Given the description of an element on the screen output the (x, y) to click on. 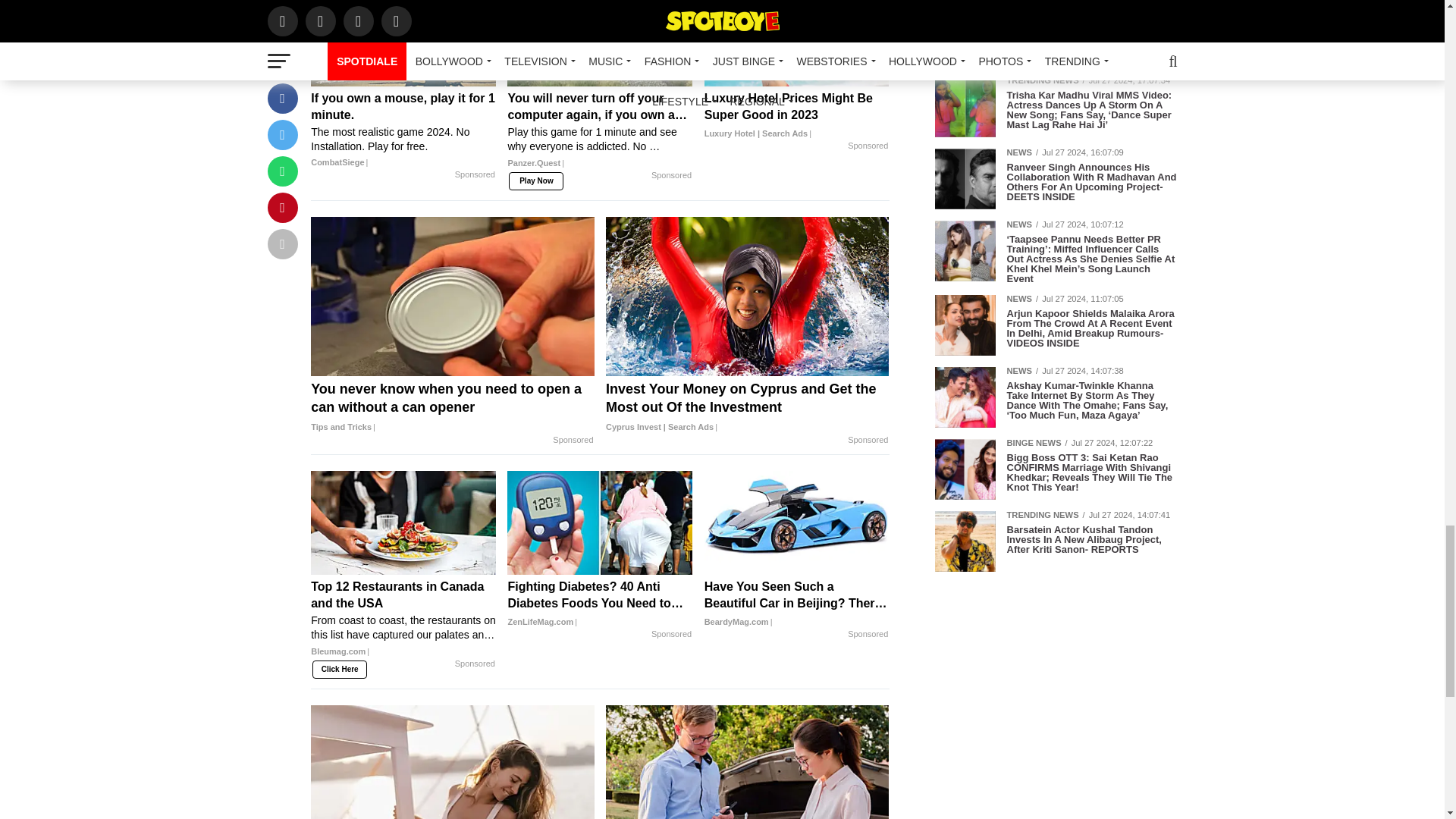
Luxury Hotel Prices Might Be Super Good in 2023 (796, 115)
Top 12 Restaurants in Canada and the USA (403, 623)
If you own a mouse, play it for 1 minute. (403, 130)
